Given the description of an element on the screen output the (x, y) to click on. 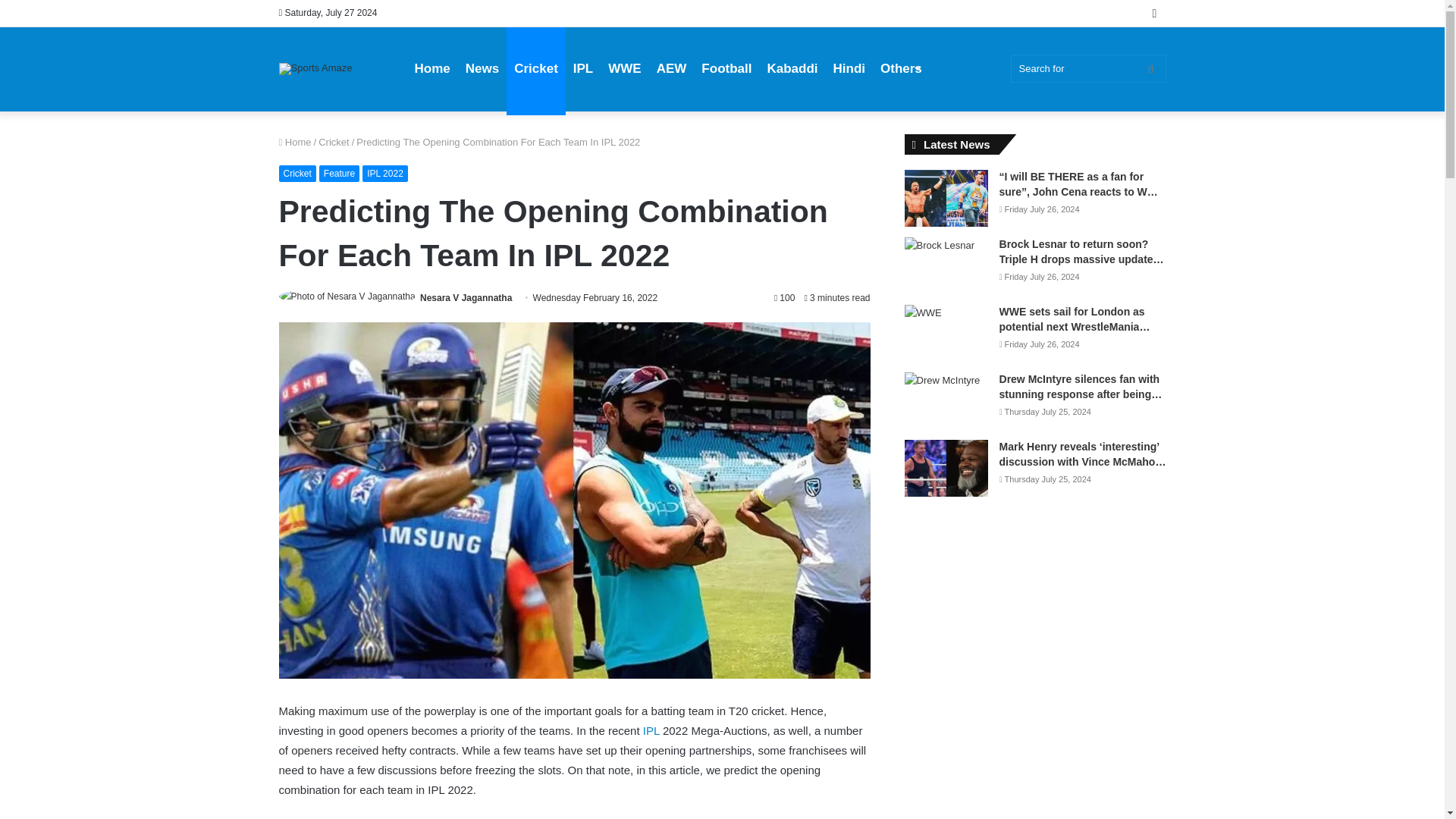
Nesara V Jagannatha (466, 297)
Feature (338, 173)
Cricket (297, 173)
IPL 2022 (384, 173)
Search for (1088, 68)
Sports Amaze (315, 69)
Cricket (333, 142)
Home (295, 142)
Nesara V Jagannatha (466, 297)
IPL (651, 730)
